Given the description of an element on the screen output the (x, y) to click on. 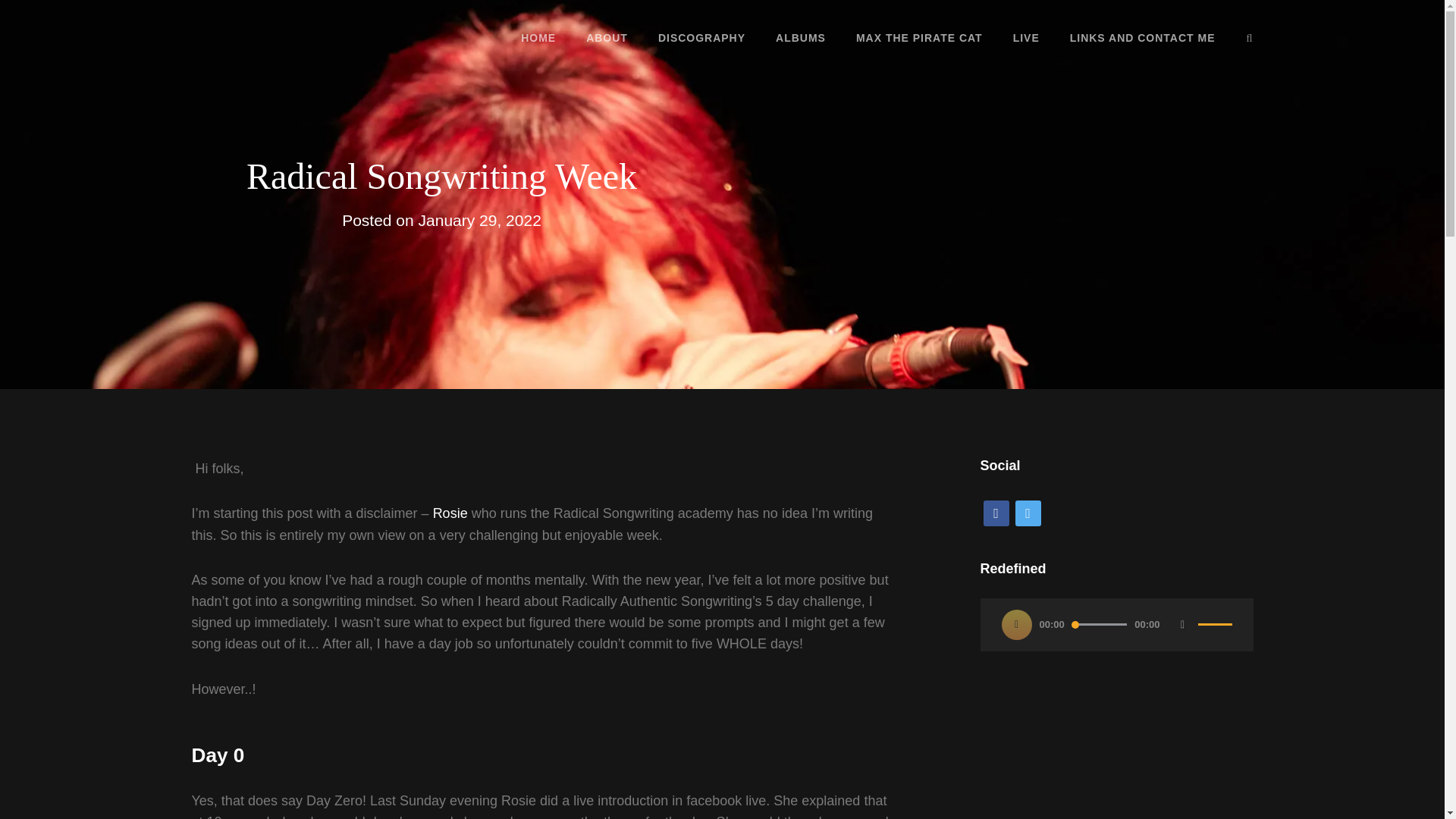
twitter (1027, 512)
Facebook (995, 512)
DISCOGRAPHY (701, 37)
MAX THE PIRATE CAT (919, 37)
Play (1015, 624)
SEARCH (1249, 37)
LIVE (1025, 37)
ABOUT (606, 37)
HOME (537, 37)
Twitter (1027, 512)
